Given the description of an element on the screen output the (x, y) to click on. 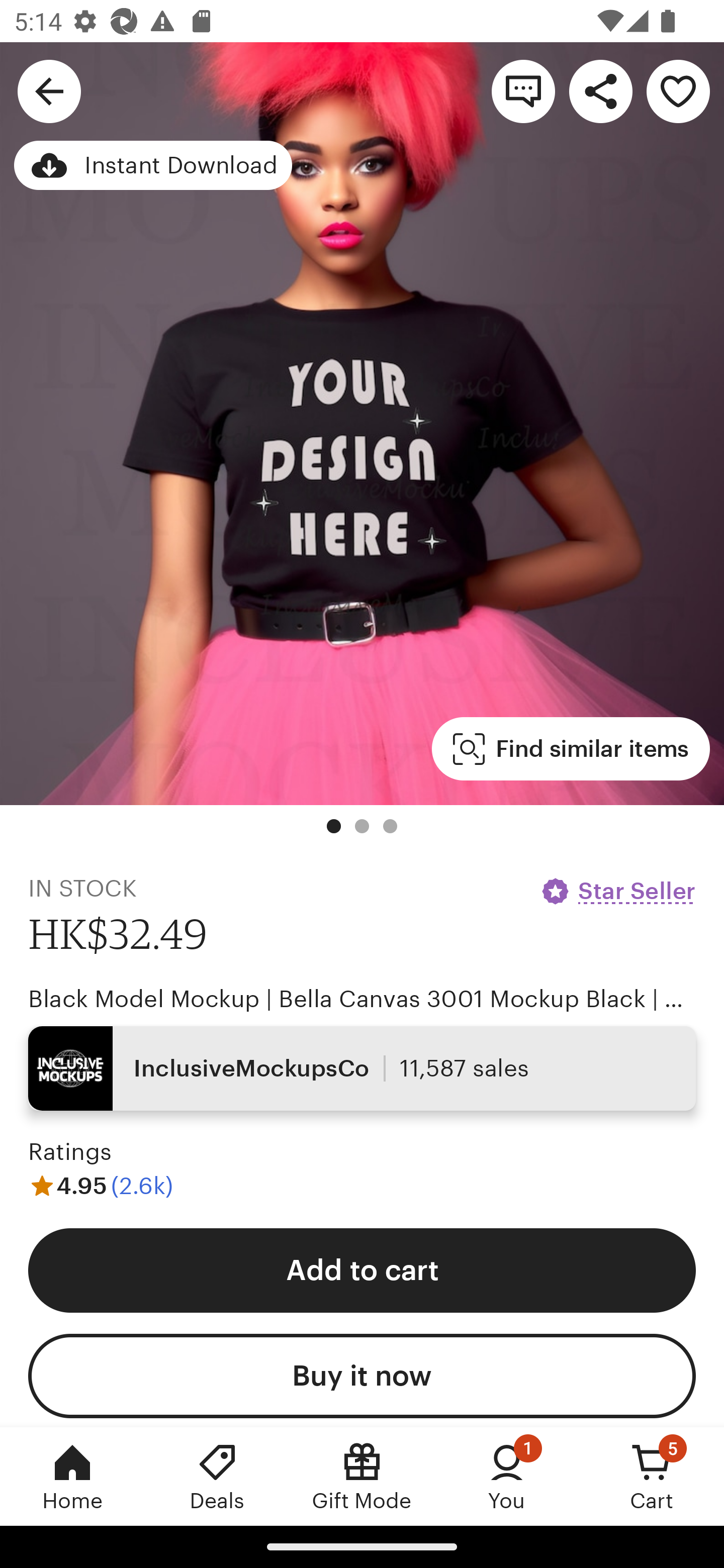
Navigate up (49, 90)
Contact shop (523, 90)
Share (600, 90)
Find similar items (571, 748)
Star Seller (617, 890)
InclusiveMockupsCo 11,587 sales (361, 1067)
Ratings (70, 1151)
4.95 (2.6k) (100, 1185)
Add to cart (361, 1269)
Buy it now (361, 1375)
Deals (216, 1475)
Gift Mode (361, 1475)
You, 1 new notification You (506, 1475)
Cart, 5 new notifications Cart (651, 1475)
